Given the description of an element on the screen output the (x, y) to click on. 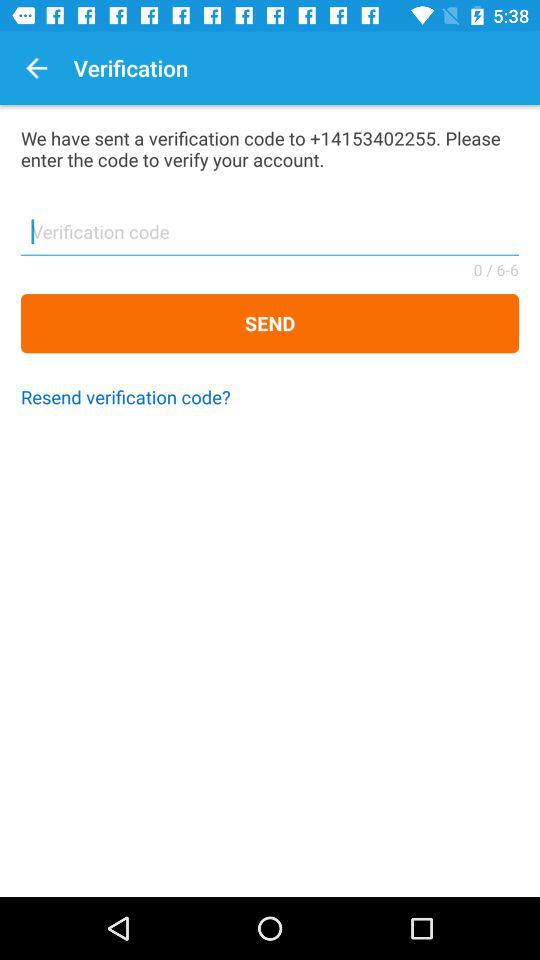
code entry box (270, 238)
